Given the description of an element on the screen output the (x, y) to click on. 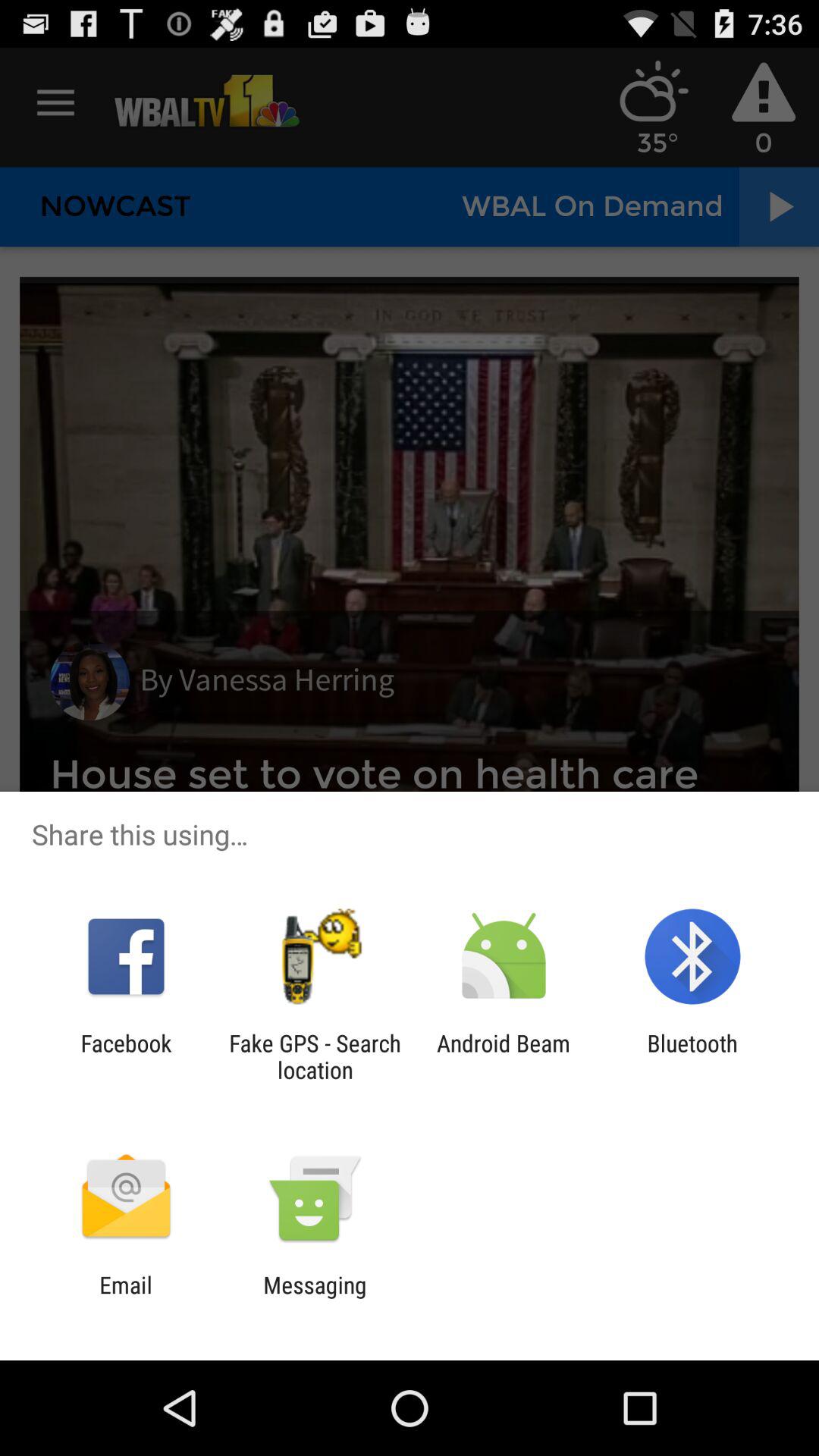
flip until bluetooth app (692, 1056)
